Given the description of an element on the screen output the (x, y) to click on. 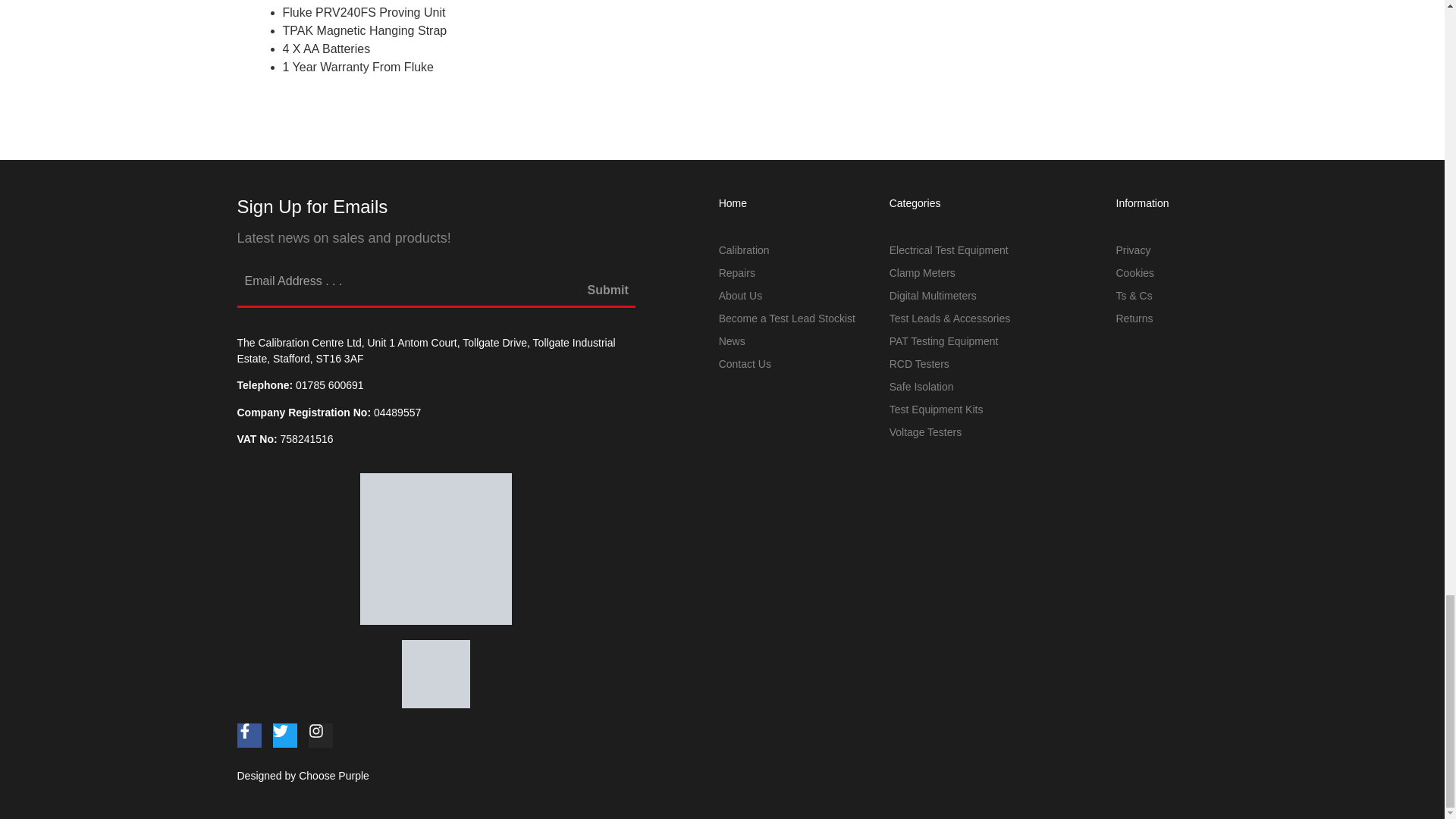
Submit (608, 298)
